Given the description of an element on the screen output the (x, y) to click on. 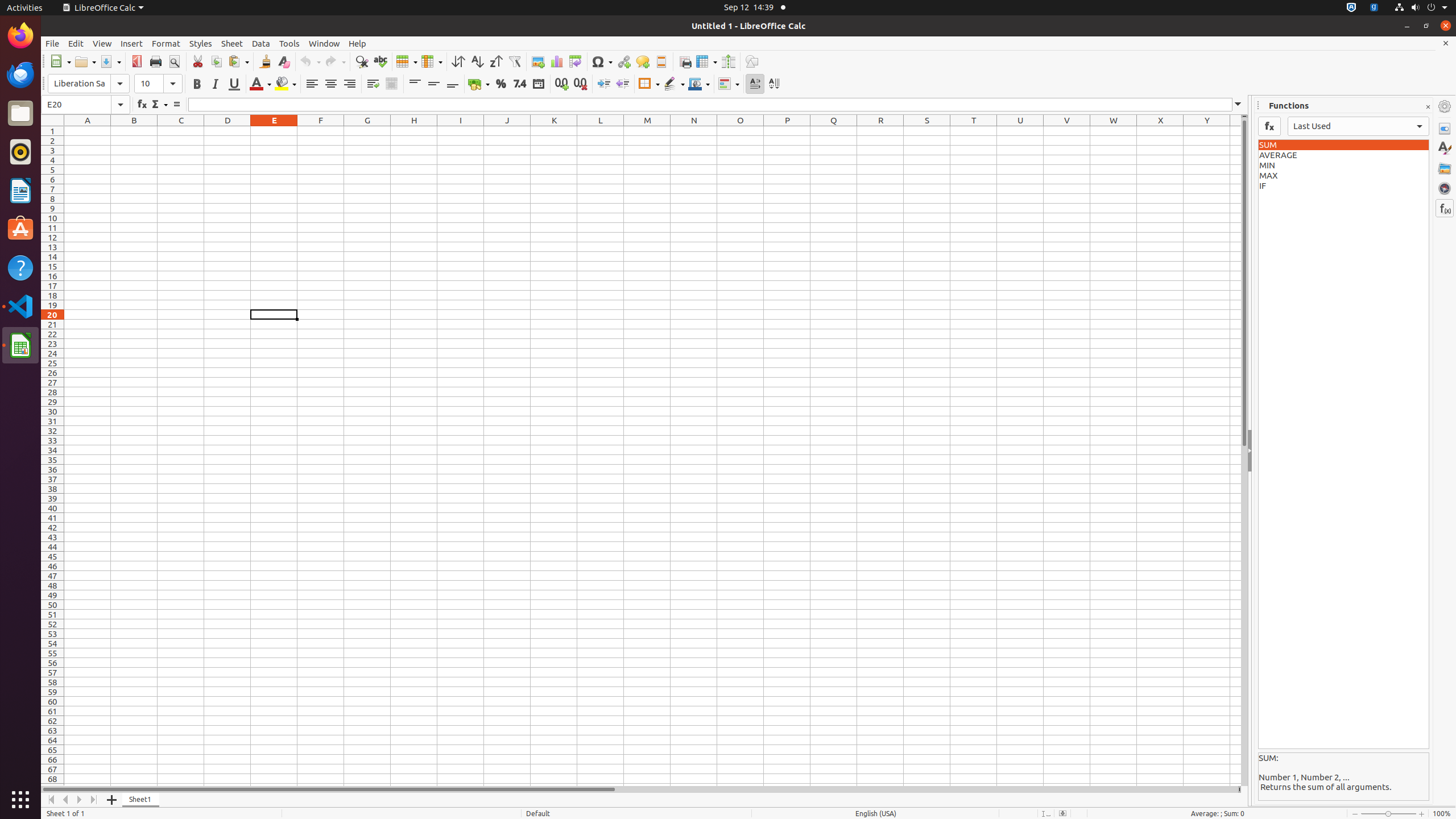
Visual Studio Code Element type: push-button (20, 306)
Files Element type: push-button (20, 113)
Copy Element type: push-button (216, 61)
Ubuntu Software Element type: push-button (20, 229)
Format Element type: menu (165, 43)
